Given the description of an element on the screen output the (x, y) to click on. 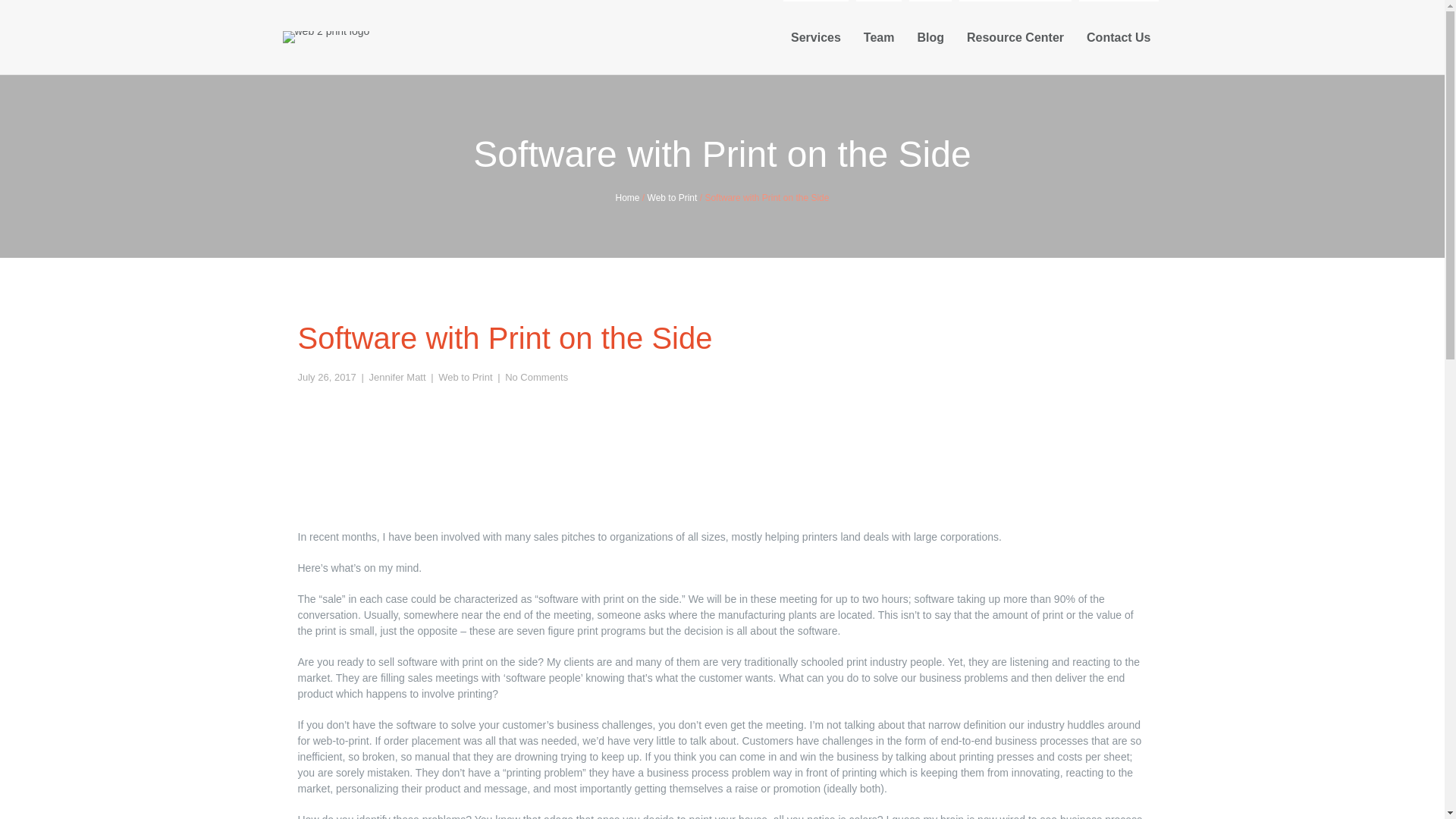
Resource Center (1015, 37)
Contact Us (1117, 37)
Web to Print (465, 377)
Web to Print (672, 197)
w2p-logo (325, 37)
Jennifer Matt (396, 377)
No Comments (536, 377)
Home (627, 197)
